Given the description of an element on the screen output the (x, y) to click on. 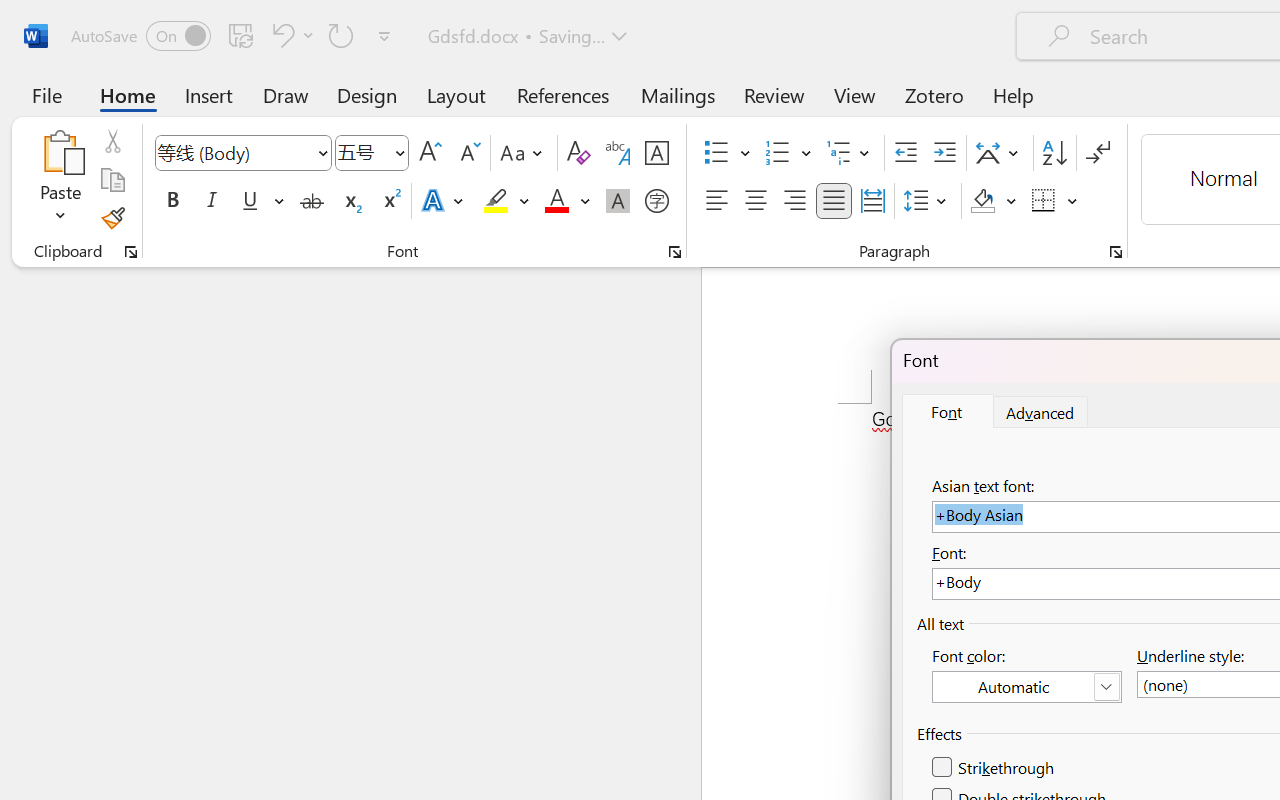
Undo Style (290, 35)
Text Highlight Color (506, 201)
Asian Layout (1000, 153)
Bold (172, 201)
Font Color Red (556, 201)
Text Effects and Typography (444, 201)
Repeat Style (341, 35)
